Given the description of an element on the screen output the (x, y) to click on. 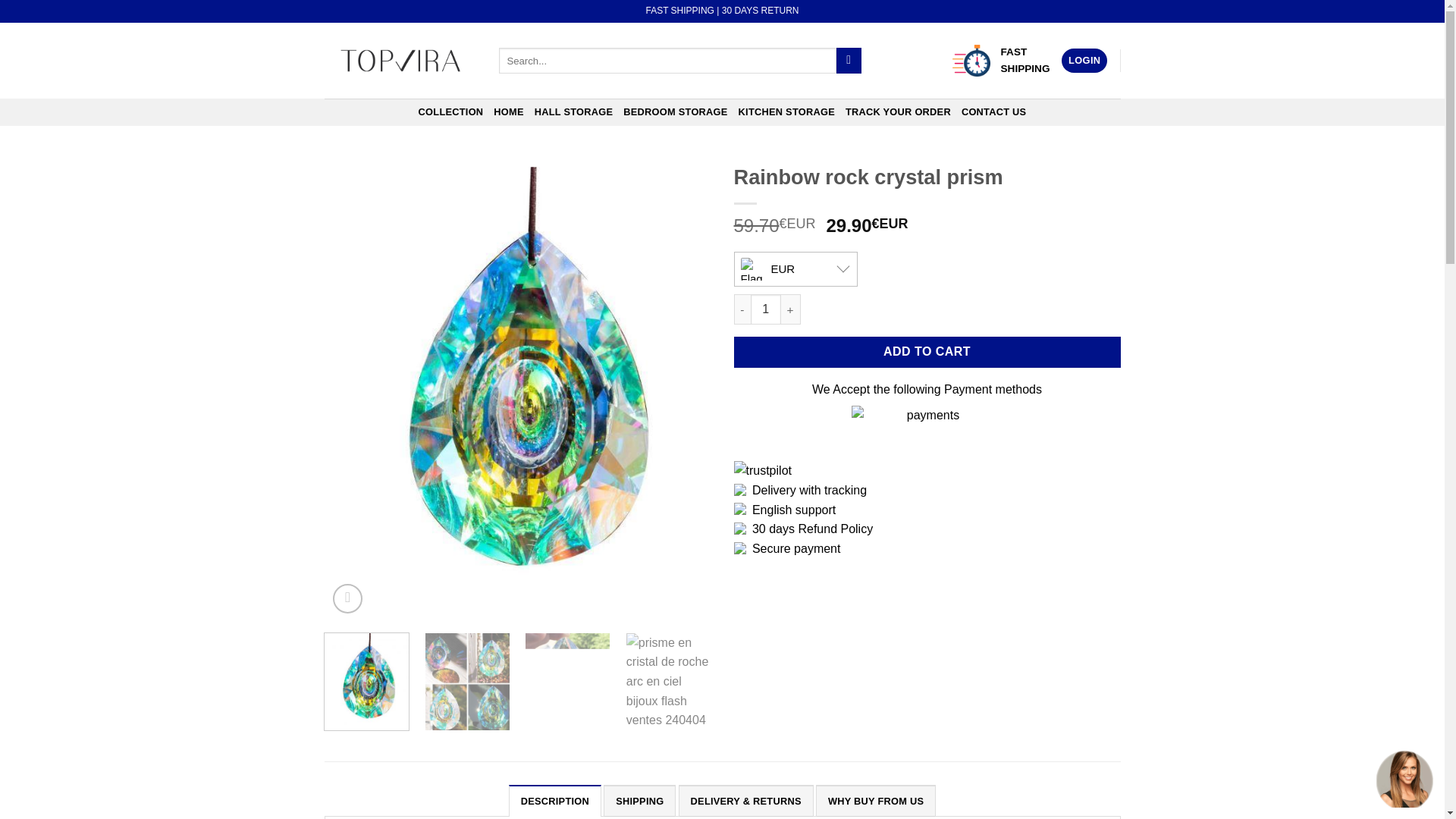
1 (765, 309)
KITCHEN STORAGE (786, 112)
COLLECTION (451, 112)
Fast Shipping (971, 60)
DESCRIPTION (554, 800)
Zoom (347, 598)
LOGIN (1083, 60)
HALL STORAGE (573, 112)
TRACK YOUR ORDER (897, 112)
WHY BUY FROM US (875, 800)
